Given the description of an element on the screen output the (x, y) to click on. 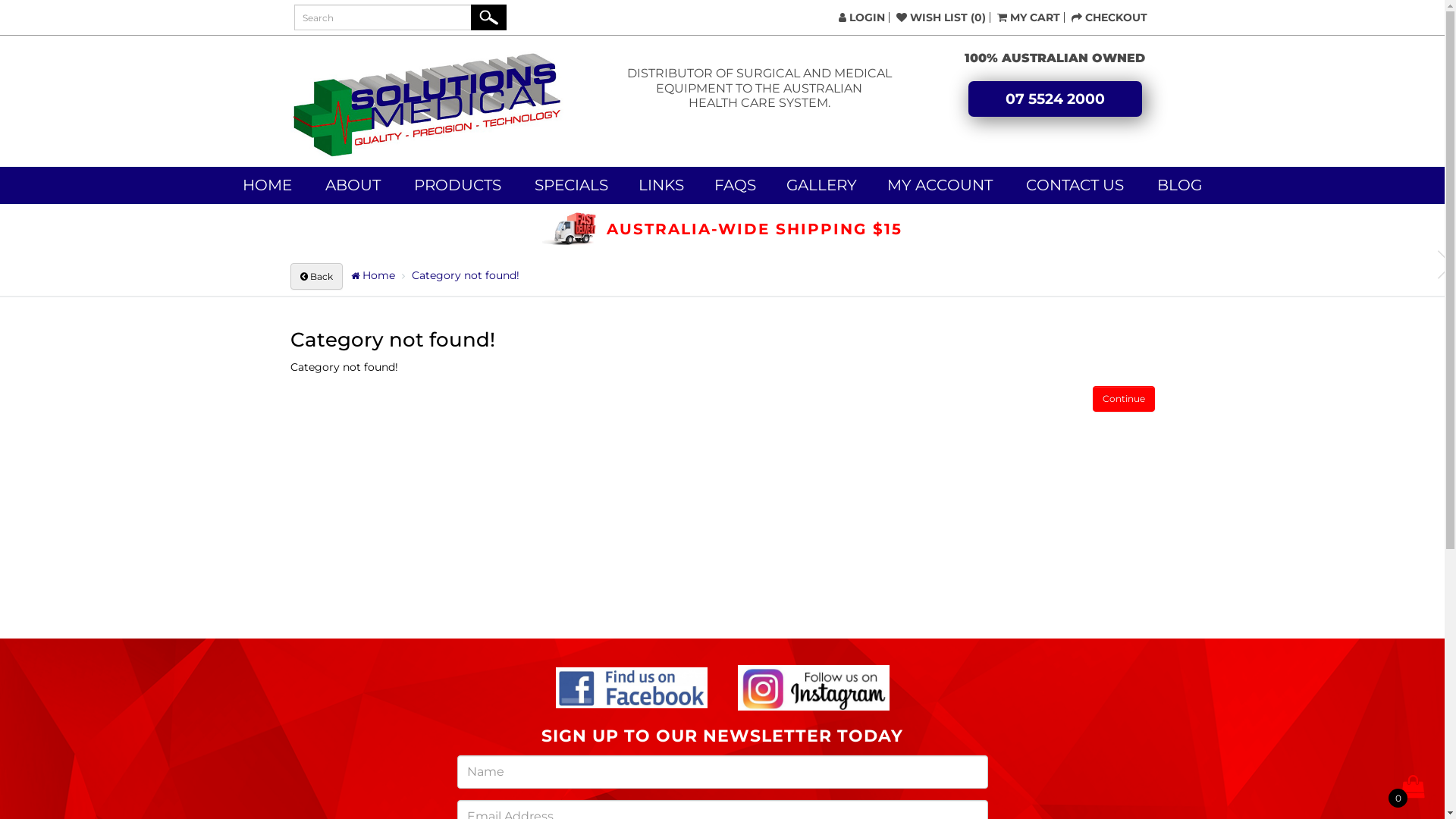
Category not found! Element type: text (464, 275)
ABOUT Element type: text (352, 185)
Home Element type: text (372, 275)
Solutions Medical Element type: hover (425, 104)
07 5524 2000 Element type: text (1055, 99)
CHECKOUT Element type: text (1108, 17)
FAQS Element type: text (735, 185)
WISH LIST (0) Element type: text (940, 17)
MY ACCOUNT Element type: text (939, 185)
MY CART Element type: text (1027, 17)
PRODUCTS Element type: text (457, 185)
HOME Element type: text (267, 185)
Back Element type: text (315, 275)
LINKS Element type: text (661, 185)
Continue Element type: text (1123, 398)
BLOG Element type: text (1179, 185)
LOGIN Element type: text (861, 17)
0 Element type: text (1412, 785)
GALLERY Element type: text (821, 185)
SPECIALS Element type: text (571, 185)
CONTACT US Element type: text (1074, 185)
